Given the description of an element on the screen output the (x, y) to click on. 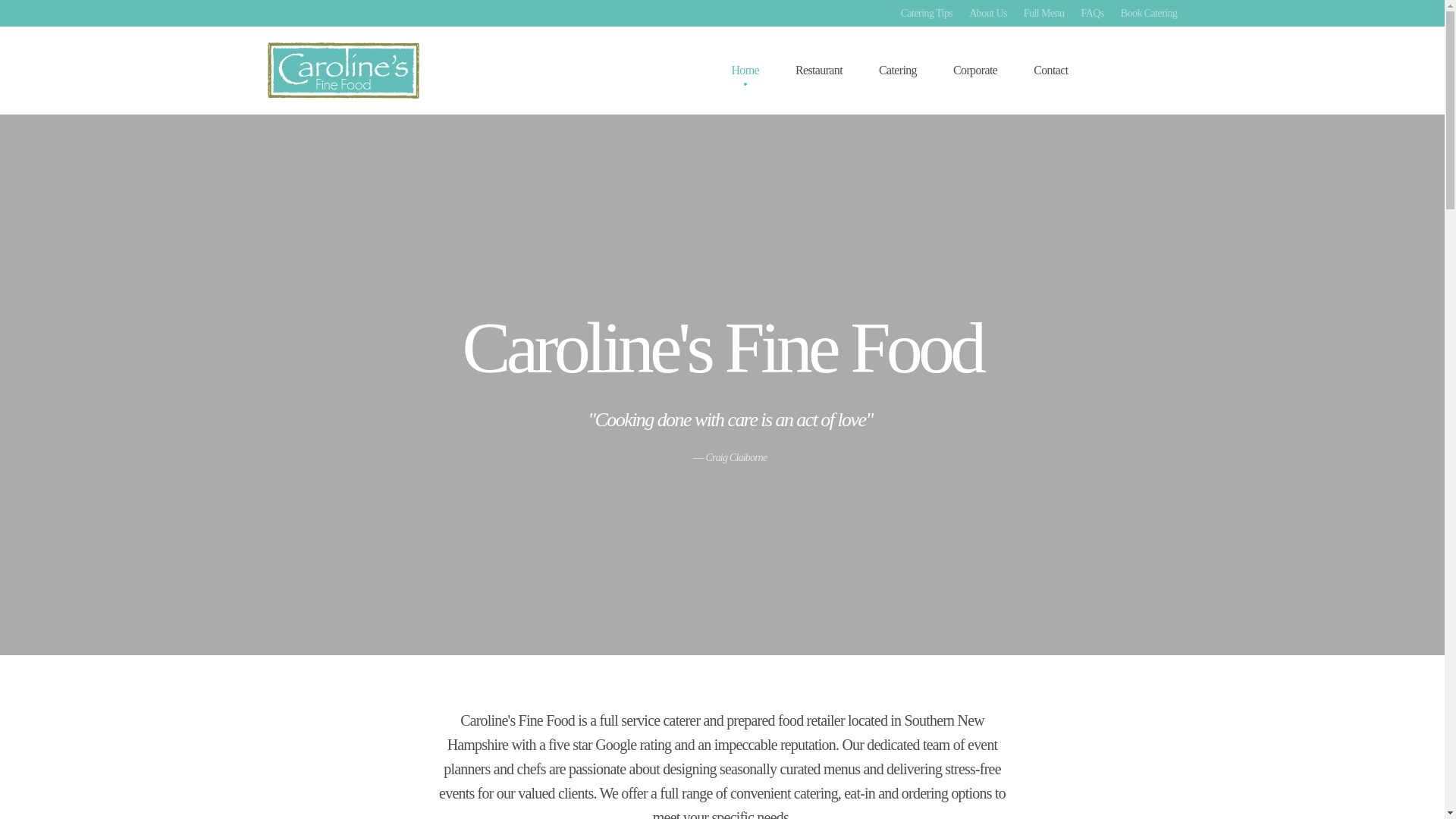
Full Menu (1043, 13)
Book Catering (1149, 13)
About Us (988, 13)
FAQs (1092, 13)
Catering Tips (722, 435)
Caroline's Fine Food (927, 13)
